Given the description of an element on the screen output the (x, y) to click on. 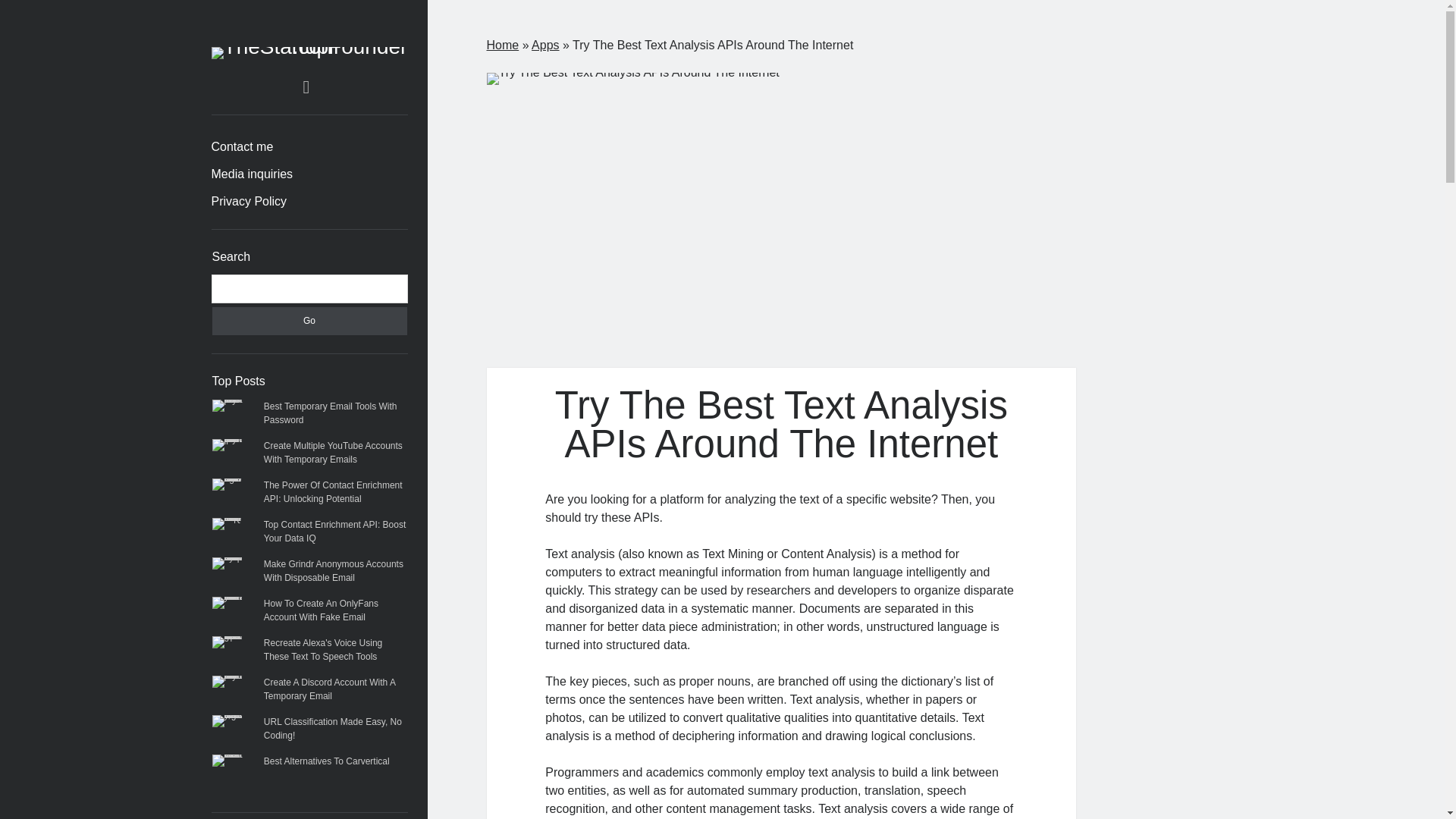
Recreate Alexa's Voice Using These Text To Speech Tools (322, 649)
Create Multiple YouTube Accounts With Temporary Emails (333, 452)
Best Temporary Email Tools With Password (330, 413)
Best Temporary Email Tools With Password (330, 413)
Top Contact Enrichment API: Boost Your Data IQ (334, 531)
Go (309, 320)
Make Grindr Anonymous Accounts With Disposable Email (333, 570)
Media inquiries (251, 174)
Contact me (242, 147)
Create A Discord Account With A Temporary Email (328, 689)
Search for: (309, 288)
Create A Discord Account With A Temporary Email (328, 689)
How To Create An OnlyFans Account With Fake Email (320, 610)
URL Classification Made Easy, No Coding! (332, 728)
Top Contact Enrichment API: Boost Your Data IQ (334, 531)
